Given the description of an element on the screen output the (x, y) to click on. 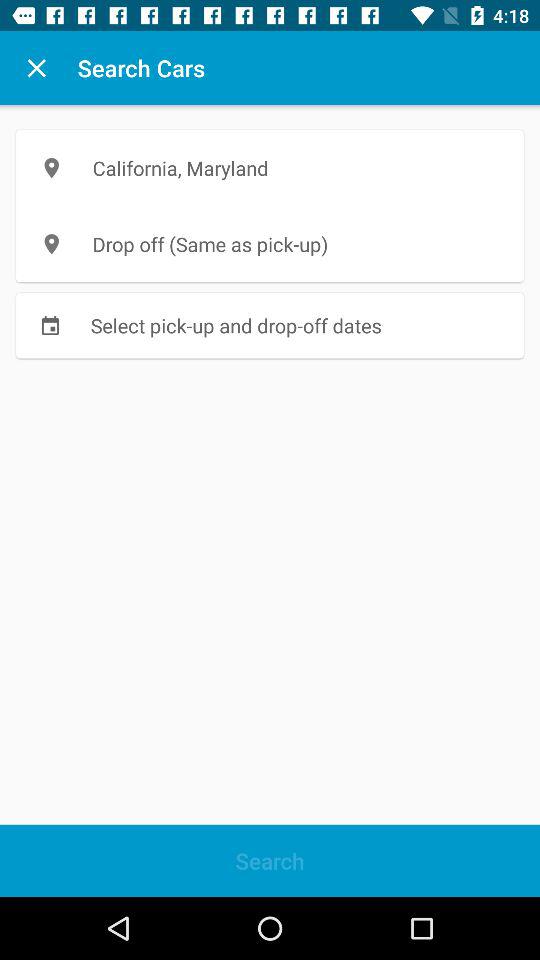
press icon above the drop off same (269, 168)
